Given the description of an element on the screen output the (x, y) to click on. 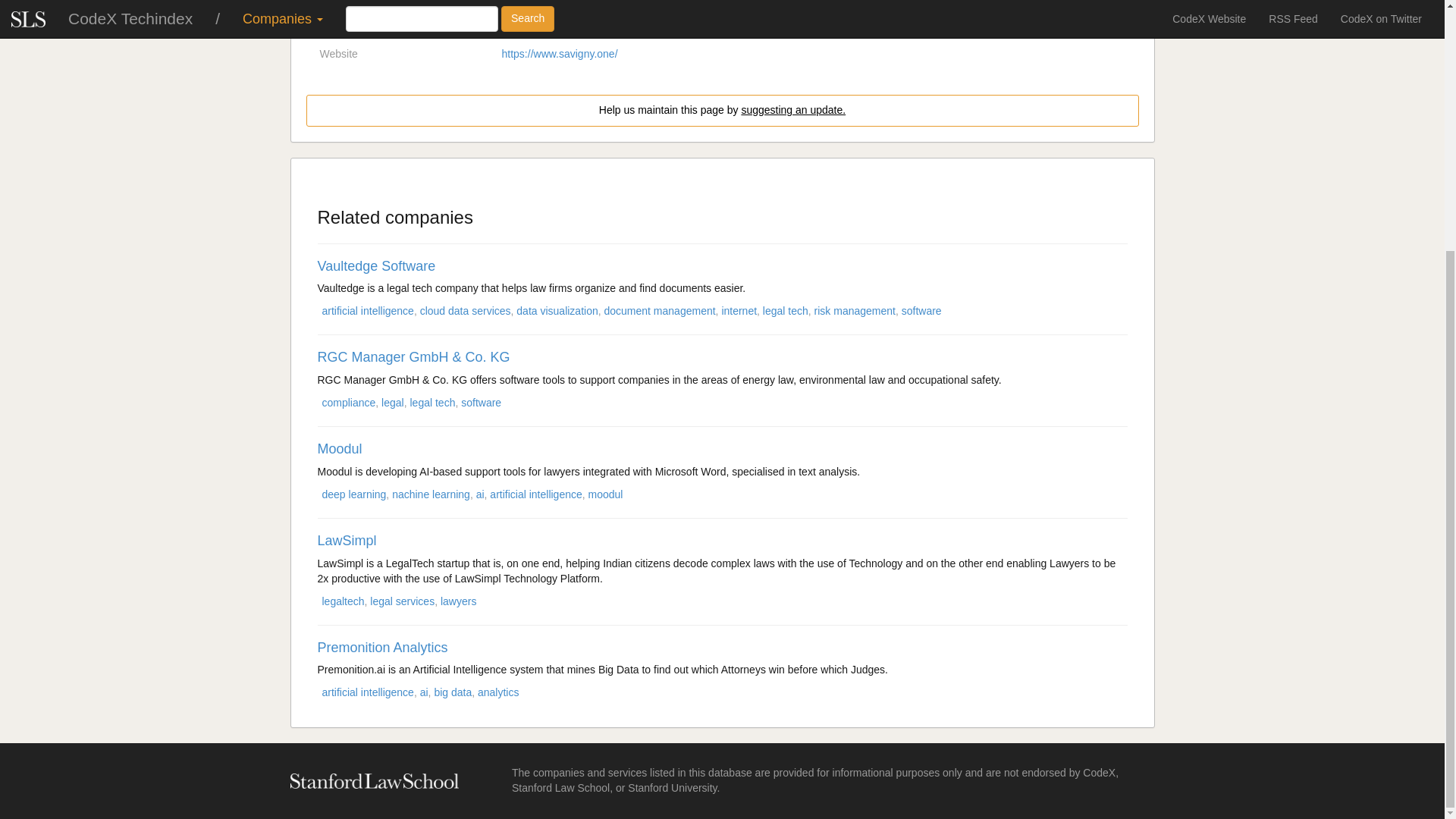
legaltech (523, 26)
document management (659, 310)
legal tech (785, 310)
legal tech (431, 402)
software (921, 310)
internet (738, 310)
data visualization (556, 310)
compliance (607, 26)
artificial intelligence (367, 310)
software (480, 402)
suggesting an update. (793, 110)
Moodul (339, 448)
cloud data services (465, 310)
deep learning (353, 494)
Vaultedge Software (376, 265)
